Given the description of an element on the screen output the (x, y) to click on. 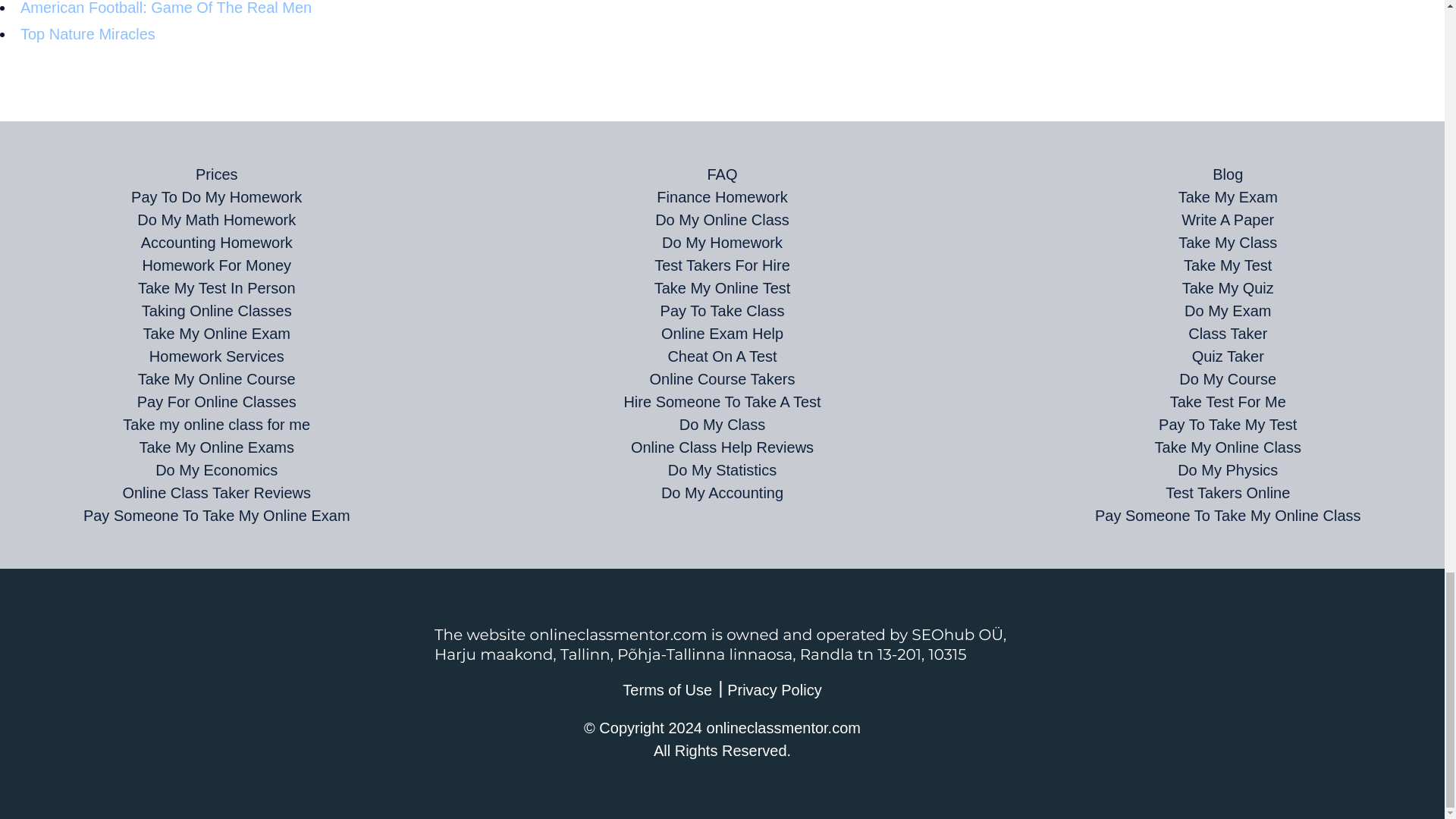
Finance Homework (721, 197)
Prices (216, 174)
Do My Online Class (722, 219)
Do My Homework (722, 242)
Pay To Do My Homework (216, 197)
FAQ (721, 174)
Do My Math Homework (215, 219)
Blog (1227, 174)
Top Nature Miracles (87, 33)
Take My Exam (1227, 197)
